Given the description of an element on the screen output the (x, y) to click on. 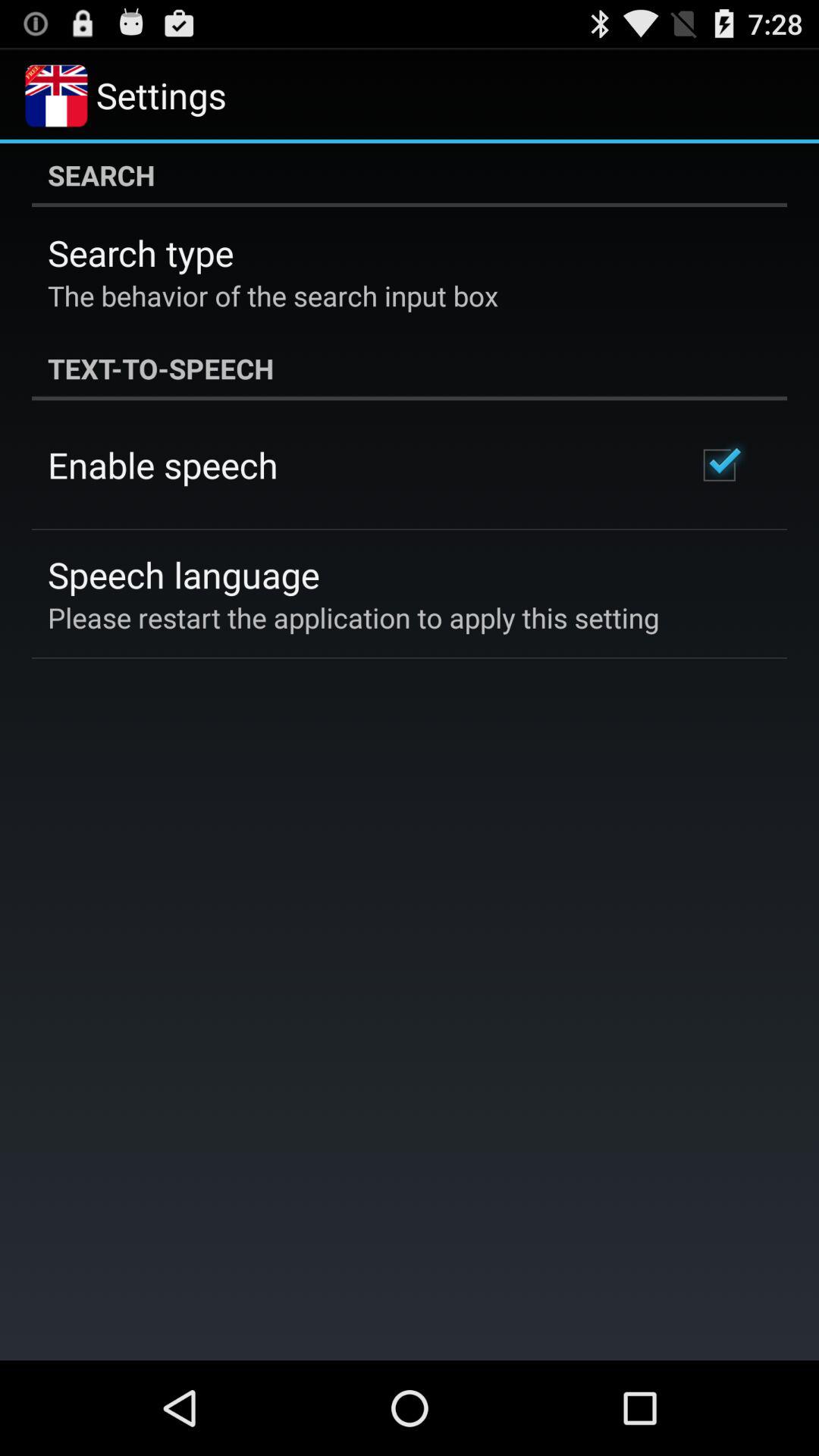
launch the text-to-speech (409, 368)
